Given the description of an element on the screen output the (x, y) to click on. 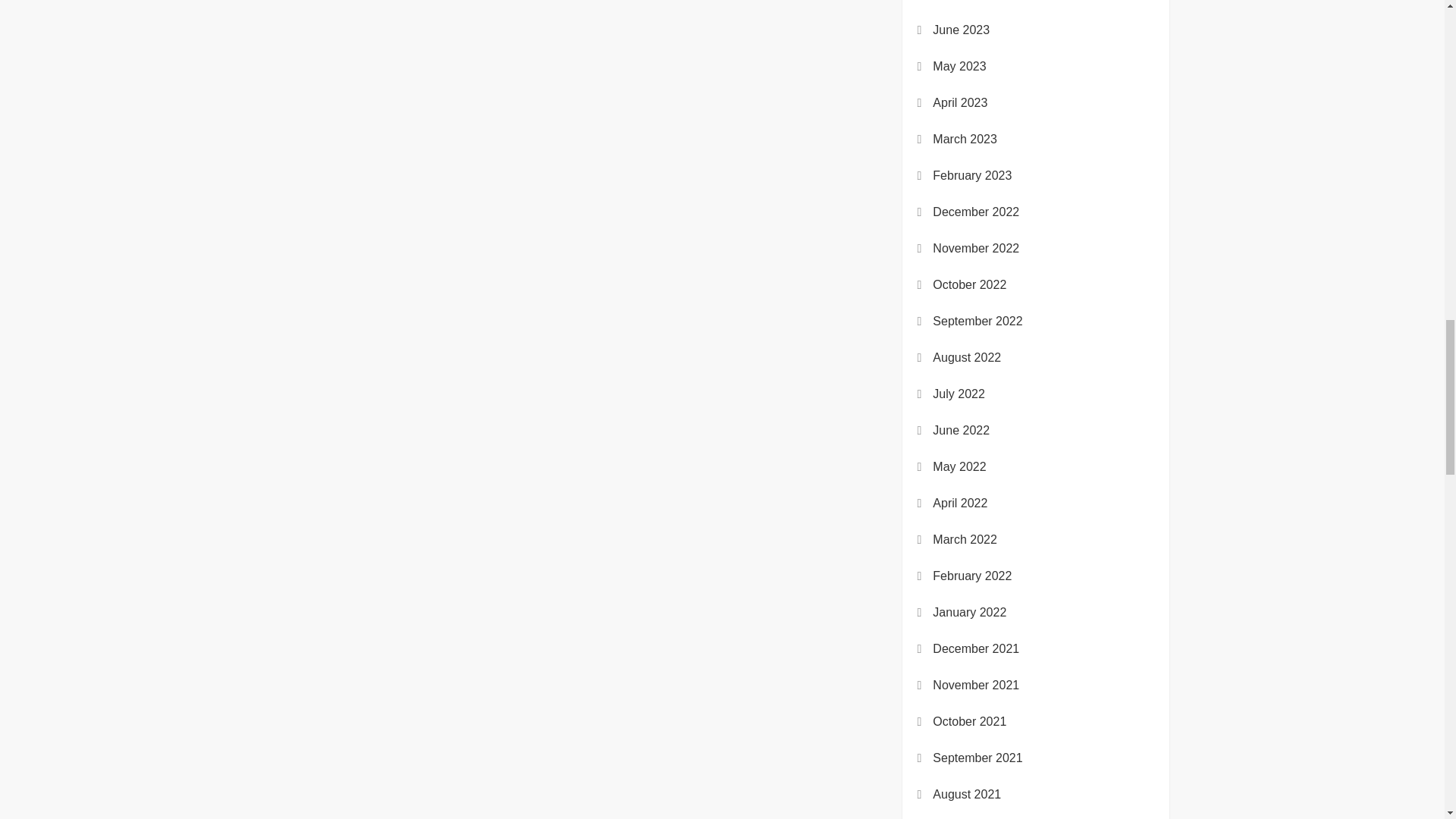
February 2023 (972, 175)
April 2023 (960, 102)
October 2022 (969, 284)
May 2023 (959, 66)
September 2022 (977, 321)
December 2022 (976, 211)
June 2023 (961, 29)
July 2022 (959, 394)
March 2023 (965, 138)
July 2023 (959, 2)
August 2022 (967, 357)
November 2022 (976, 248)
